Given the description of an element on the screen output the (x, y) to click on. 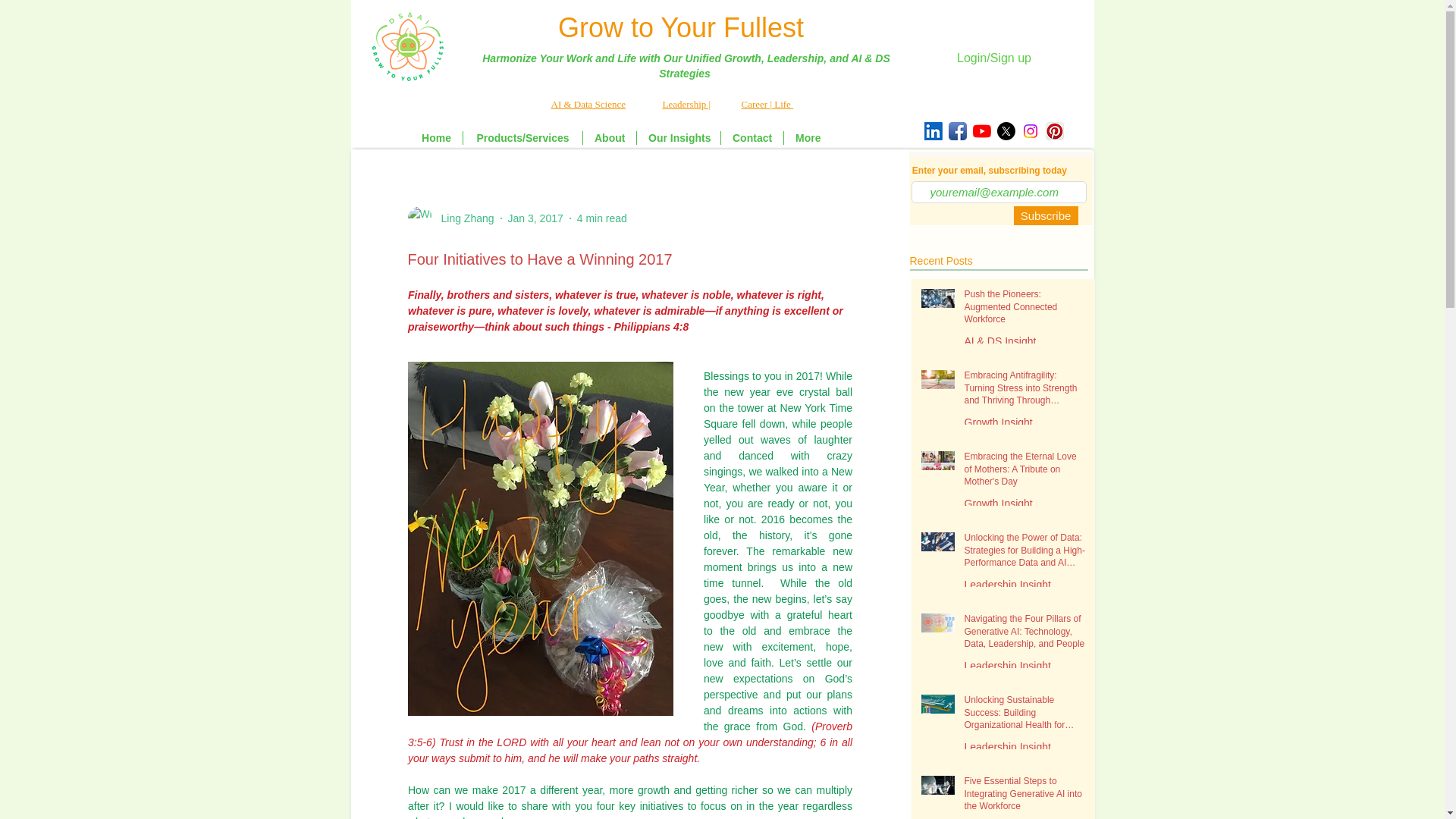
Push the Pioneers: Augmented Connected Workforce (1024, 310)
Ling Zhang (451, 218)
Subscribe (1045, 215)
Growth Insight (997, 422)
4 min read (601, 218)
Our Insights (678, 137)
Contact (751, 137)
